Given the description of an element on the screen output the (x, y) to click on. 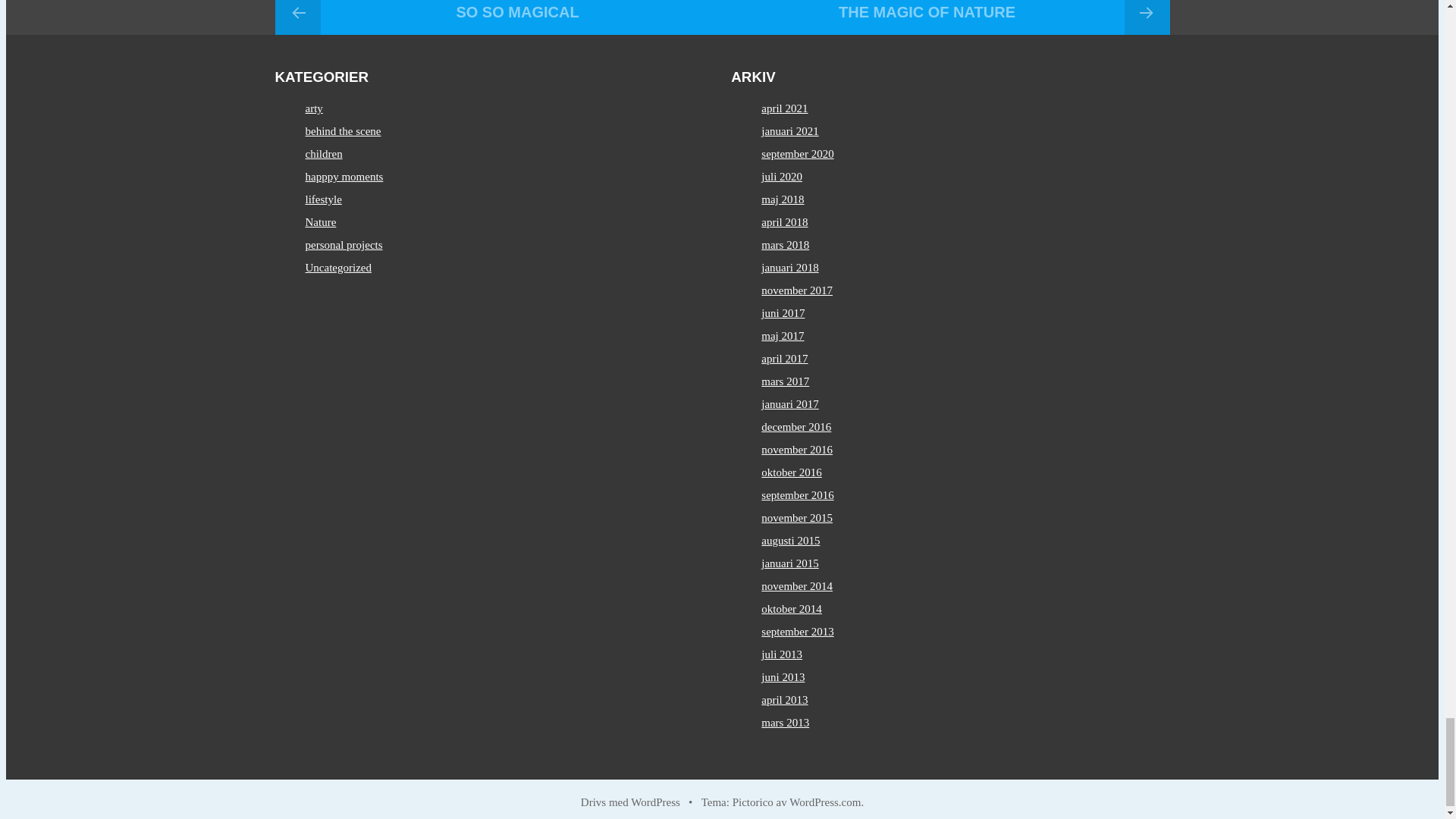
SO SO MAGICAL (498, 17)
september 2020 (796, 153)
mars 2018 (785, 244)
arty (312, 108)
januari 2018 (789, 267)
april 2021 (784, 108)
maj 2018 (782, 199)
THE MAGIC OF NATURE (945, 17)
juli 2020 (781, 176)
personal projects (342, 244)
januari 2021 (789, 131)
Nature (320, 222)
behind the scene (342, 131)
children (323, 153)
lifestyle (322, 199)
